Given the description of an element on the screen output the (x, y) to click on. 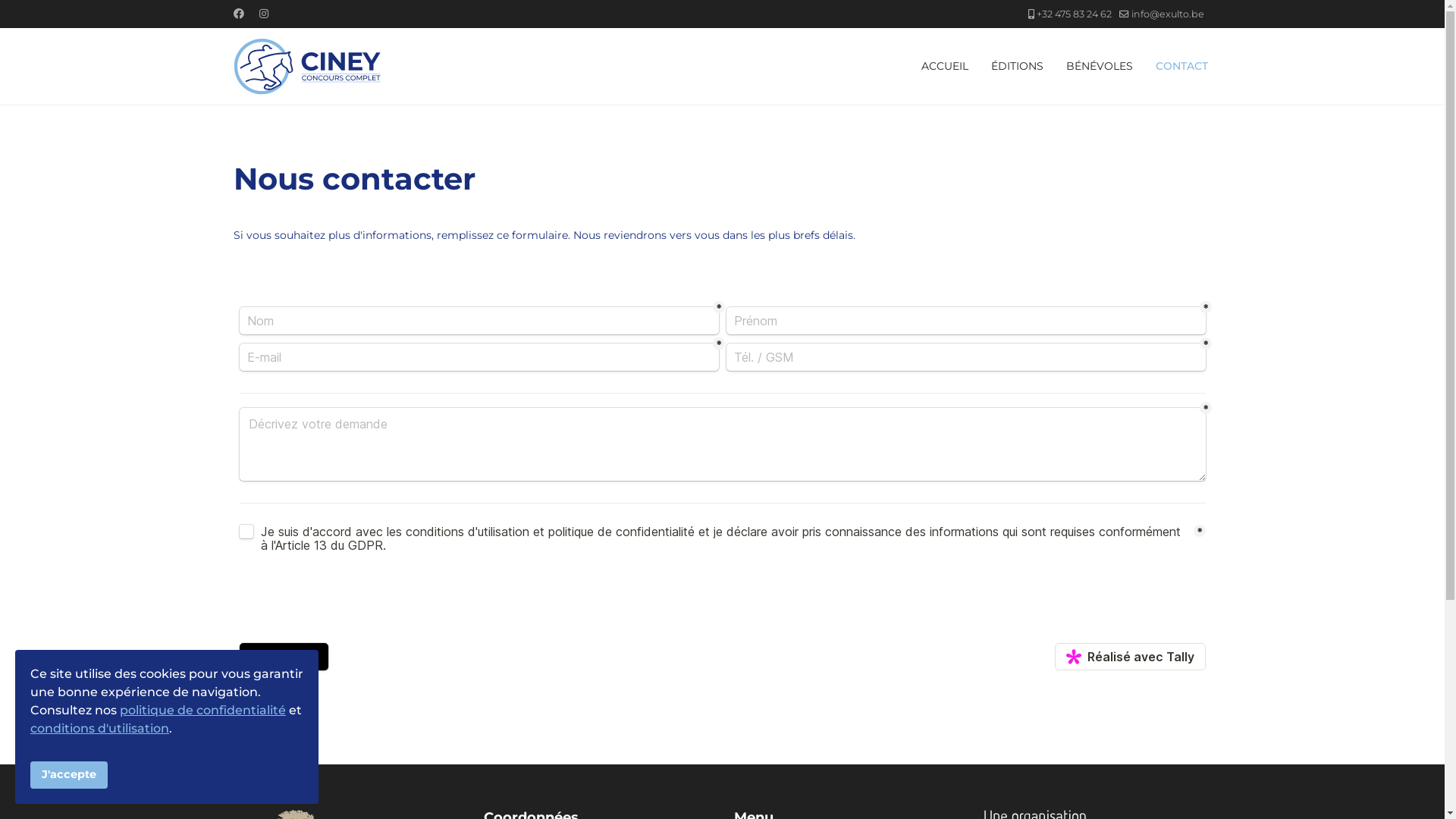
+32 475 83 24 62 Element type: text (1072, 13)
conditions d'utilisation Element type: text (99, 728)
CONTACT Element type: text (1175, 65)
J'accepte Element type: text (68, 774)
ACCUEIL Element type: text (944, 65)
info@exulto.be Element type: text (1167, 13)
